Given the description of an element on the screen output the (x, y) to click on. 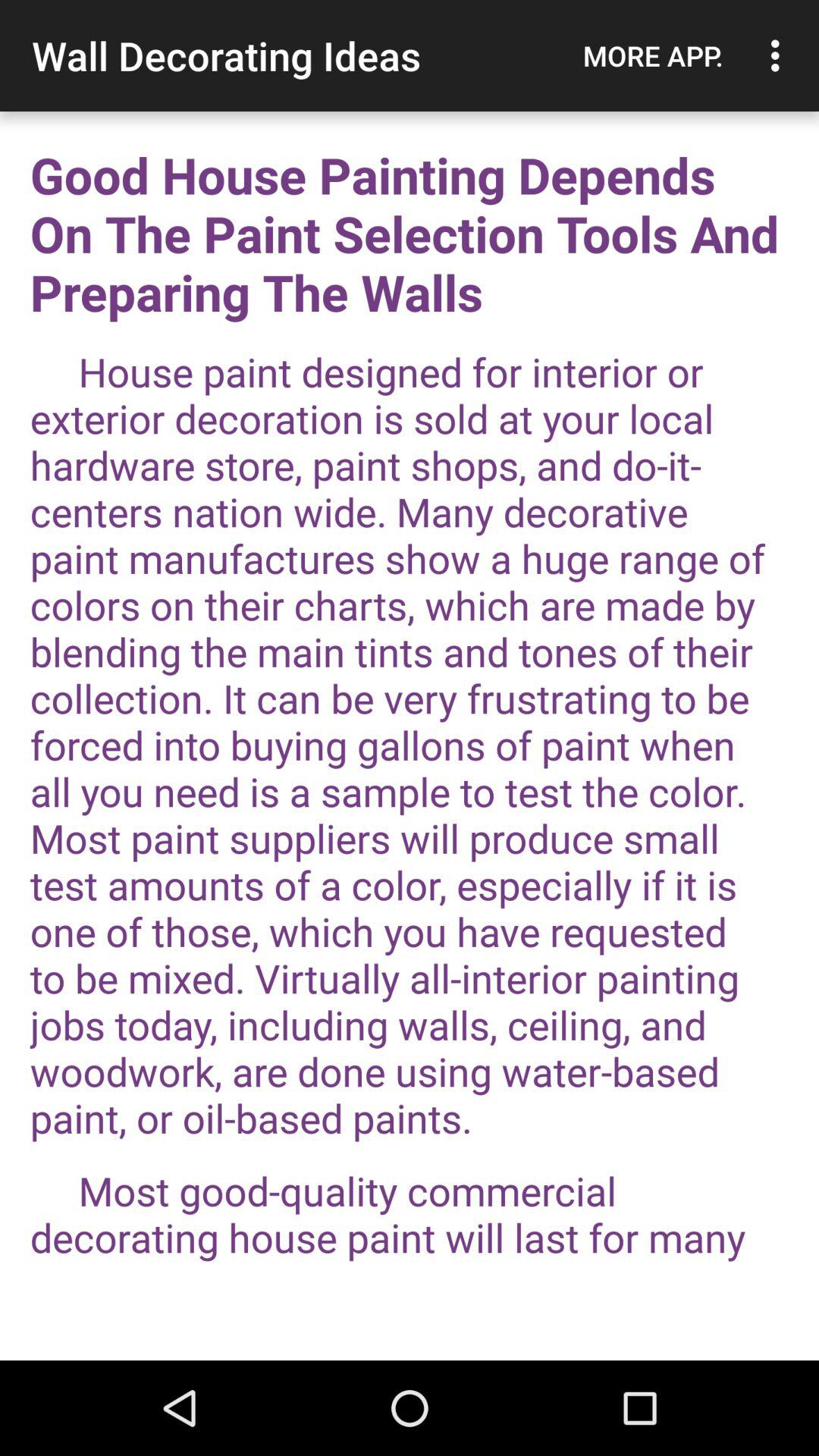
select app to the right of wall decorating ideas (653, 55)
